Given the description of an element on the screen output the (x, y) to click on. 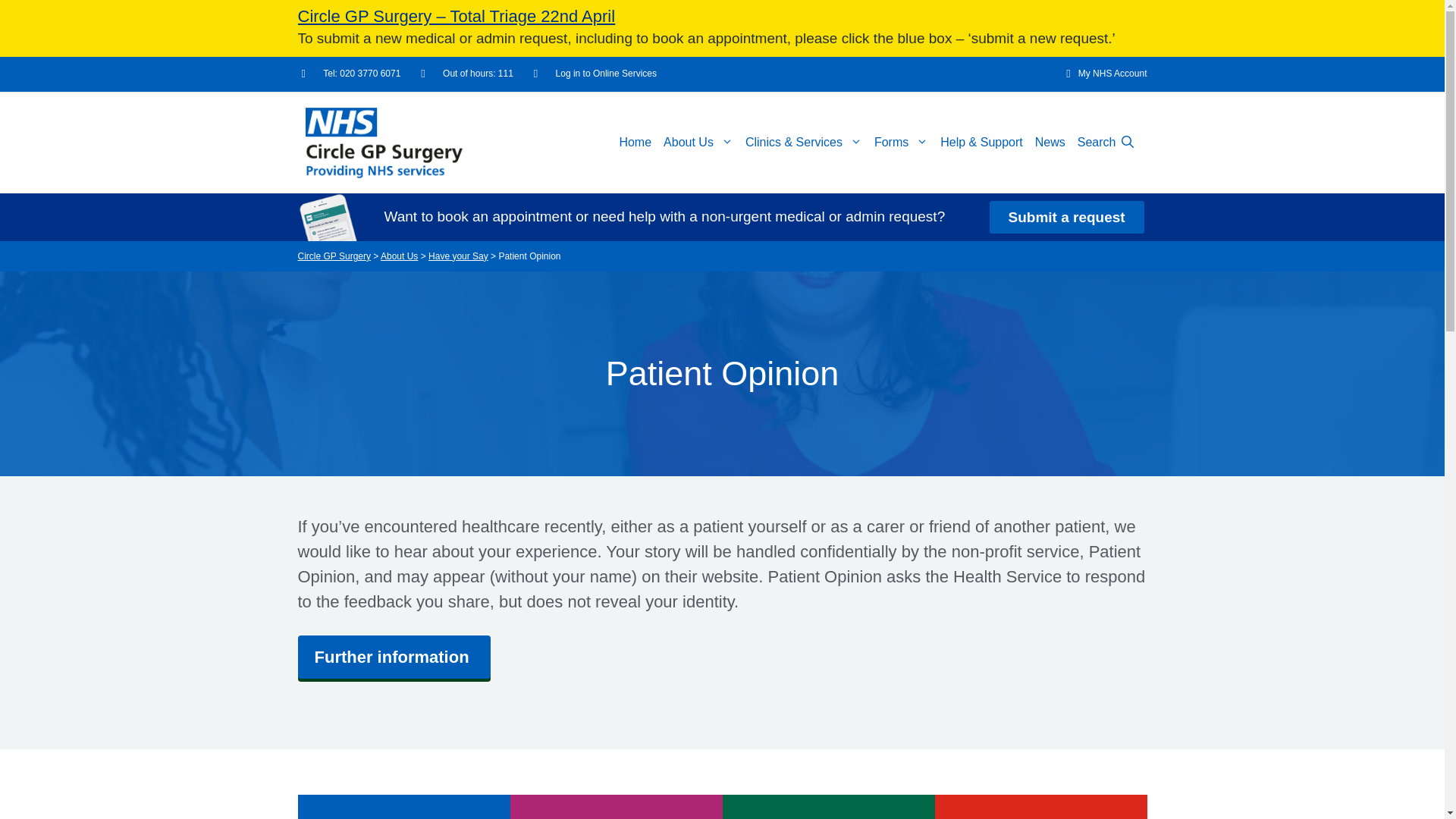
My NHS Account (1102, 74)
Home (635, 142)
Out of hours: 111 (466, 74)
Tel: 020 3770 6071 (351, 74)
About Us (698, 142)
Log in to Online Services (595, 74)
Go to Circle GP Surgery. (333, 255)
Go to About Us. (398, 255)
Go to Have your Say. (457, 255)
